Given the description of an element on the screen output the (x, y) to click on. 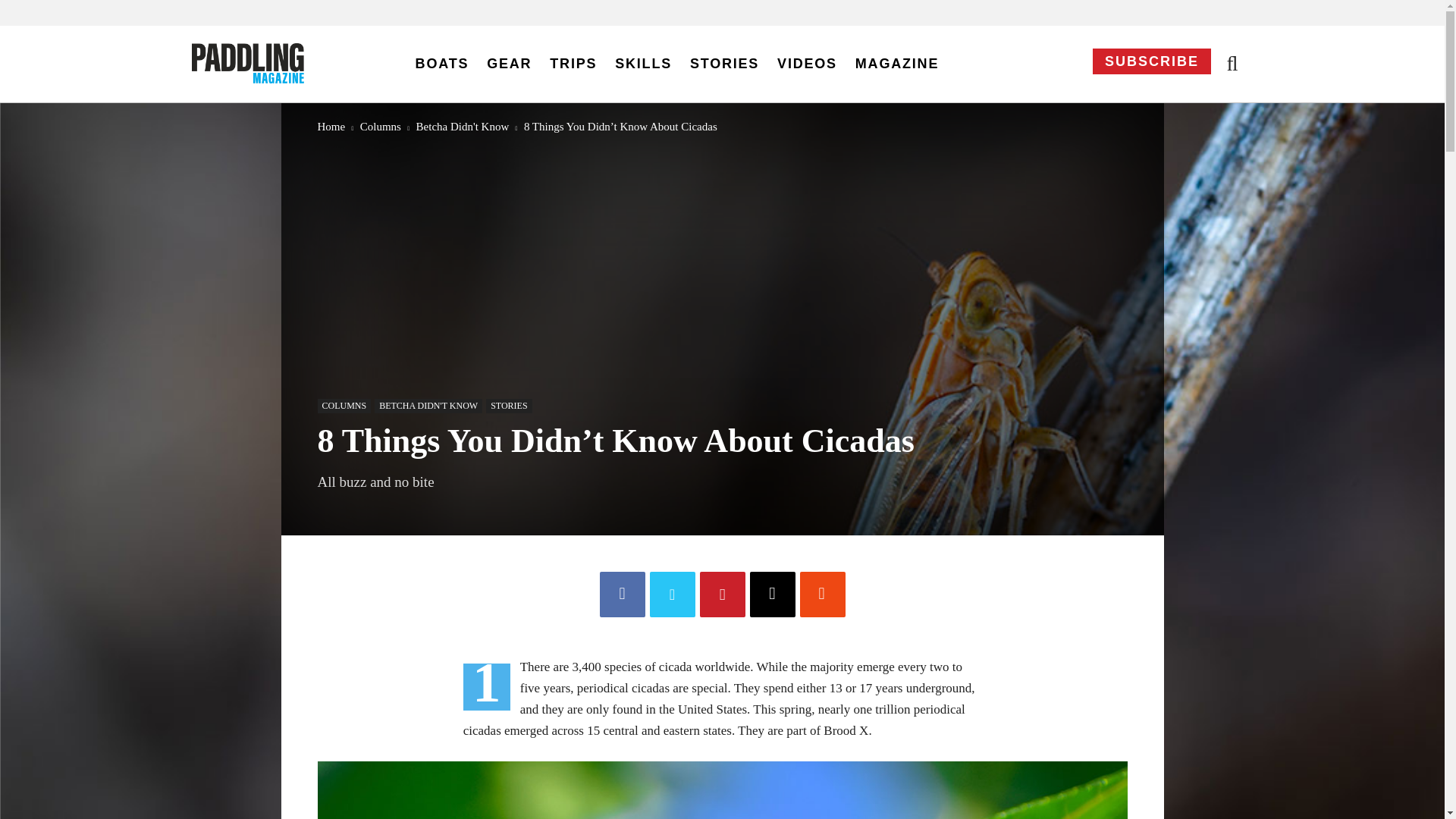
Email (771, 594)
View all posts in Betcha Didn't Know (462, 125)
View all posts in Columns (380, 125)
Pinterest (721, 594)
Twitter (671, 594)
Mix (821, 594)
Facebook (621, 594)
